Given the description of an element on the screen output the (x, y) to click on. 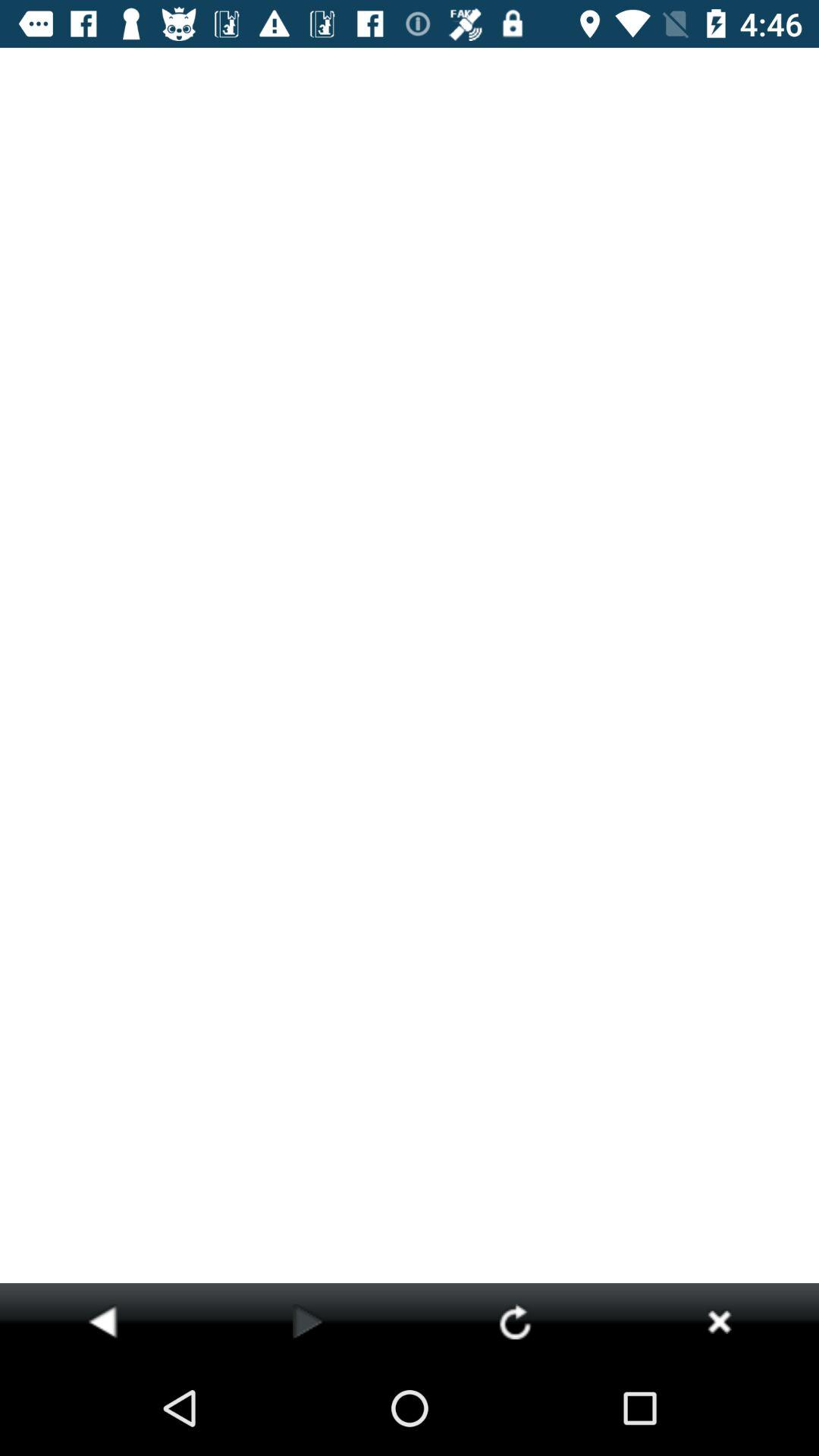
play this track (307, 1321)
